Given the description of an element on the screen output the (x, y) to click on. 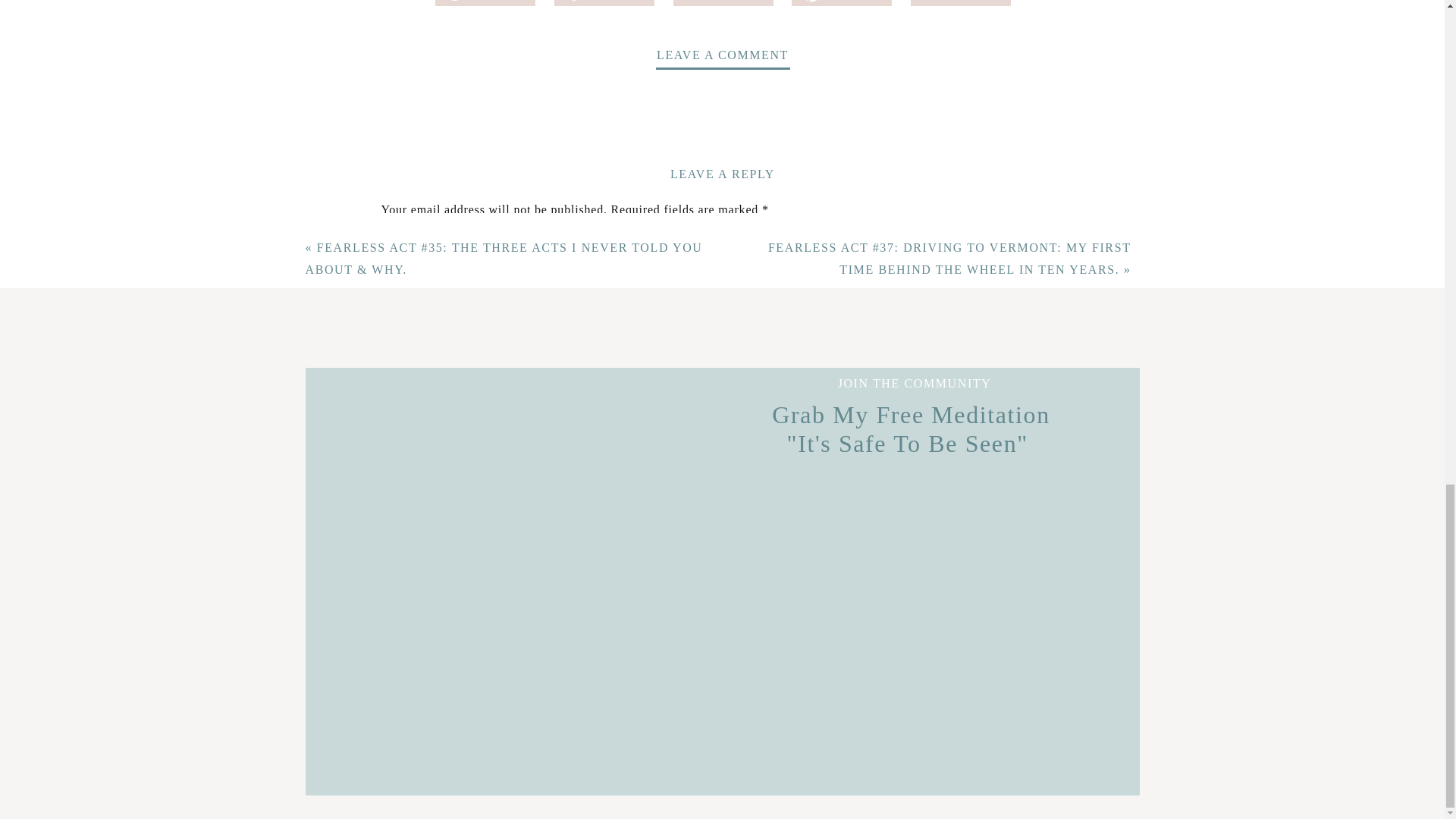
Post Comment (424, 687)
Post Comment (424, 687)
yes (388, 617)
